Given the description of an element on the screen output the (x, y) to click on. 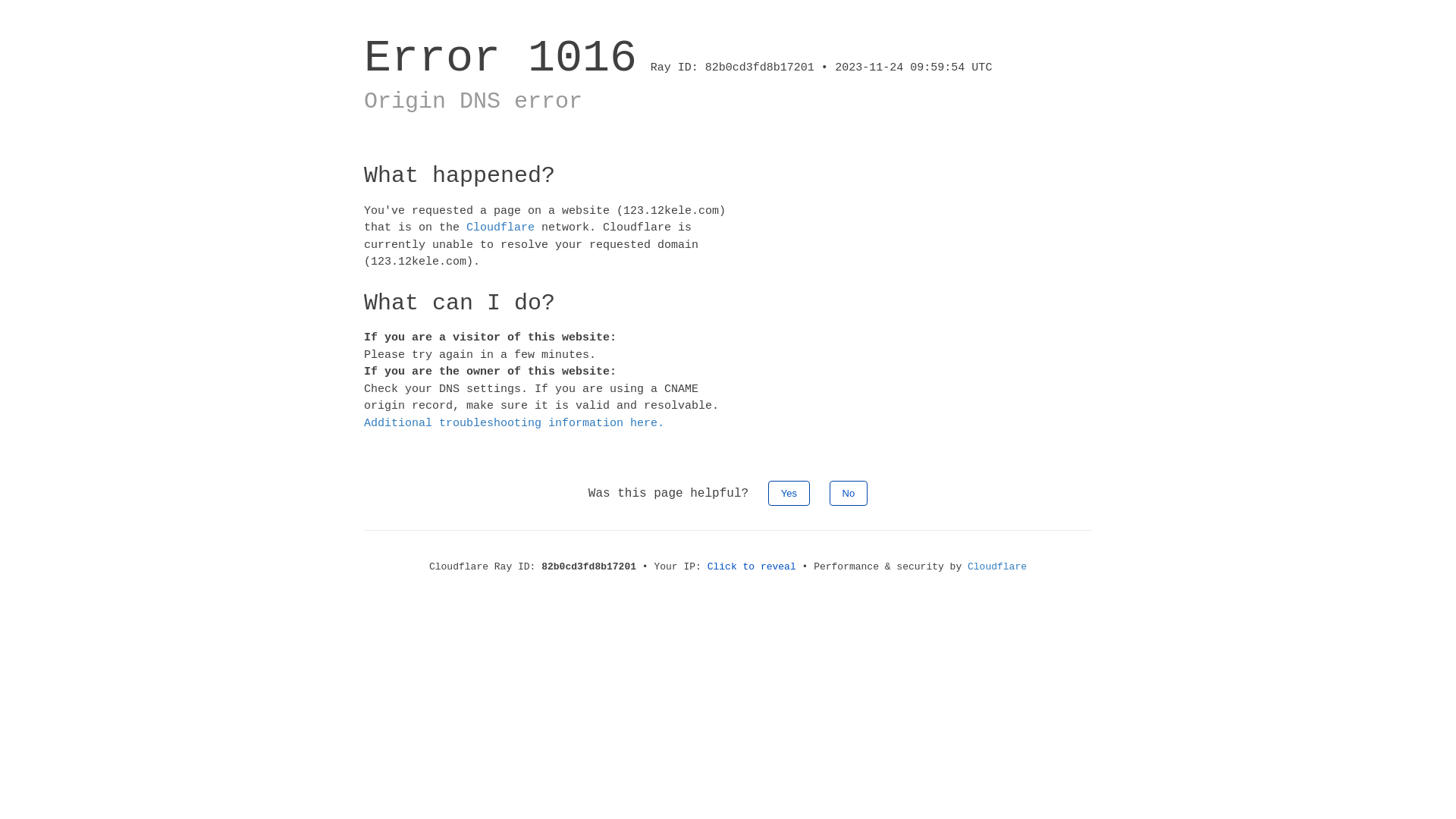
Additional troubleshooting information here. Element type: text (514, 423)
Cloudflare Element type: text (500, 227)
No Element type: text (848, 492)
Cloudflare Element type: text (996, 566)
Yes Element type: text (788, 492)
Click to reveal Element type: text (751, 566)
